Given the description of an element on the screen output the (x, y) to click on. 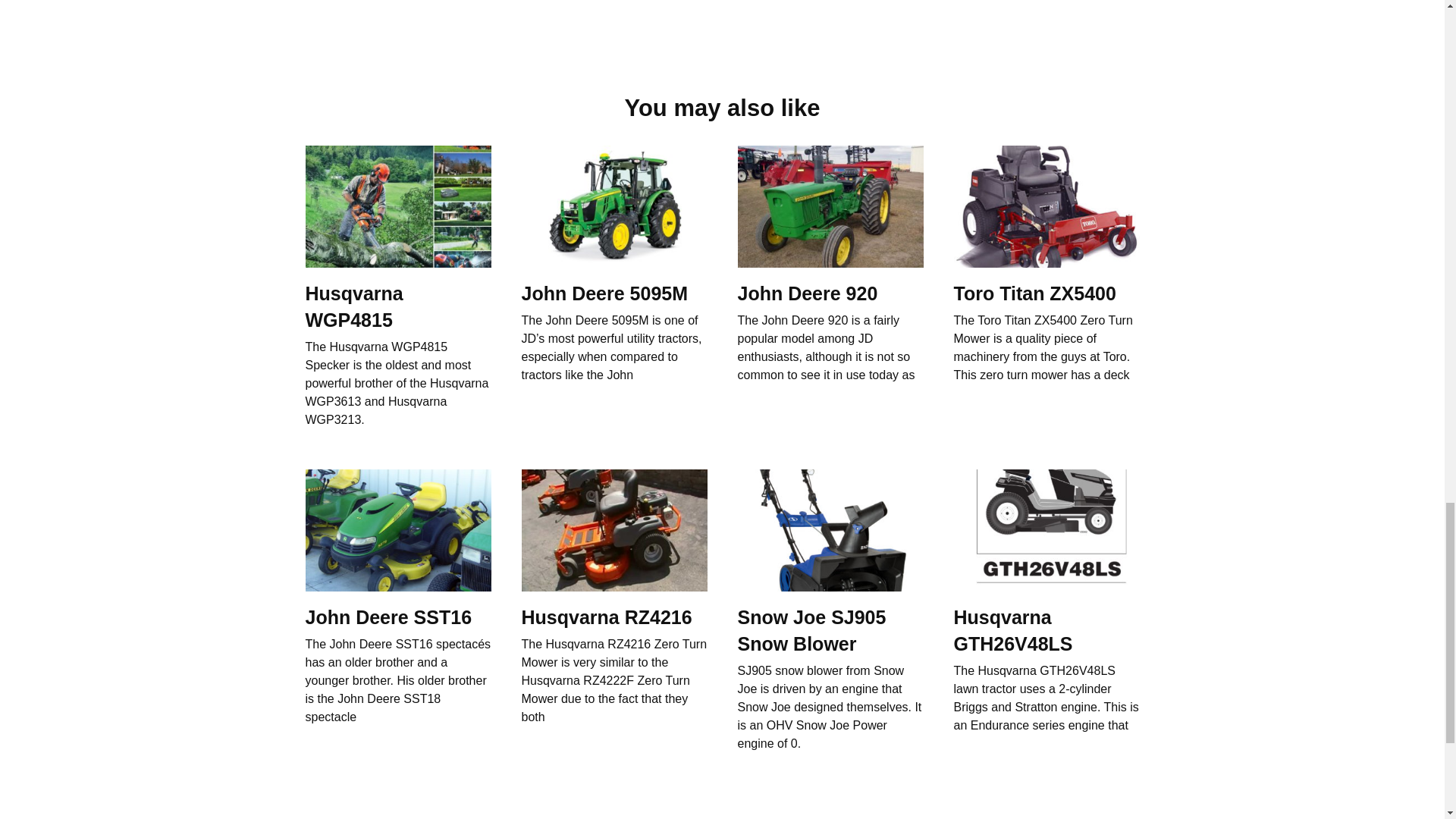
John Deere 920 (806, 292)
John Deere SST16 (387, 616)
Toro Titan ZX5400 (1034, 292)
Snow Joe SJ905 Snow Blower (810, 630)
John Deere 5095M (604, 292)
Husqvarna RZ4216 (607, 616)
Husqvarna WGP4815 (353, 306)
